Given the description of an element on the screen output the (x, y) to click on. 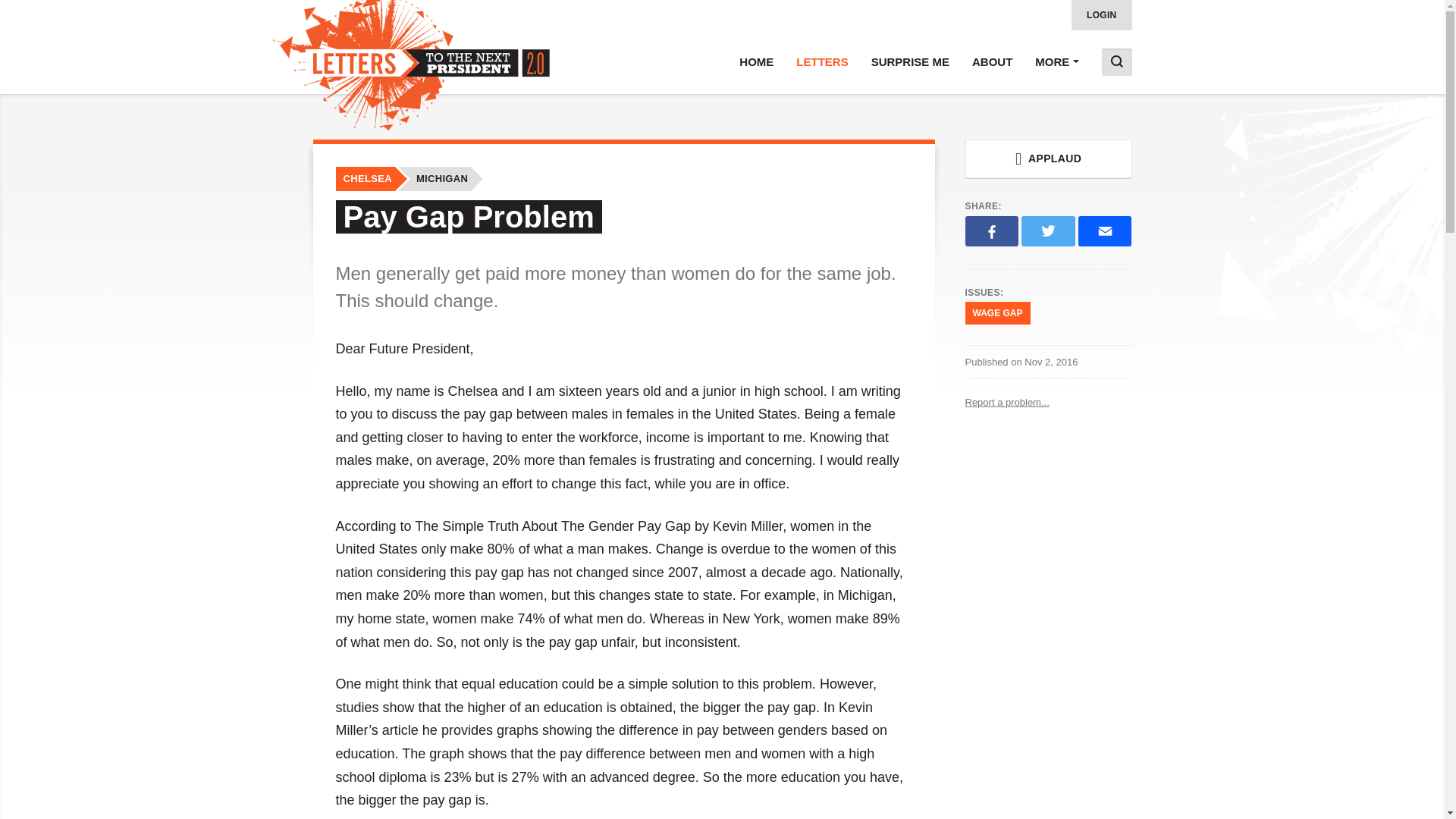
ABOUT (991, 62)
LETTERS (821, 62)
HOME (756, 62)
Report a problem... (1047, 402)
SURPRISE ME (910, 62)
LOGIN (1101, 15)
WAGE GAP (996, 313)
